Given the description of an element on the screen output the (x, y) to click on. 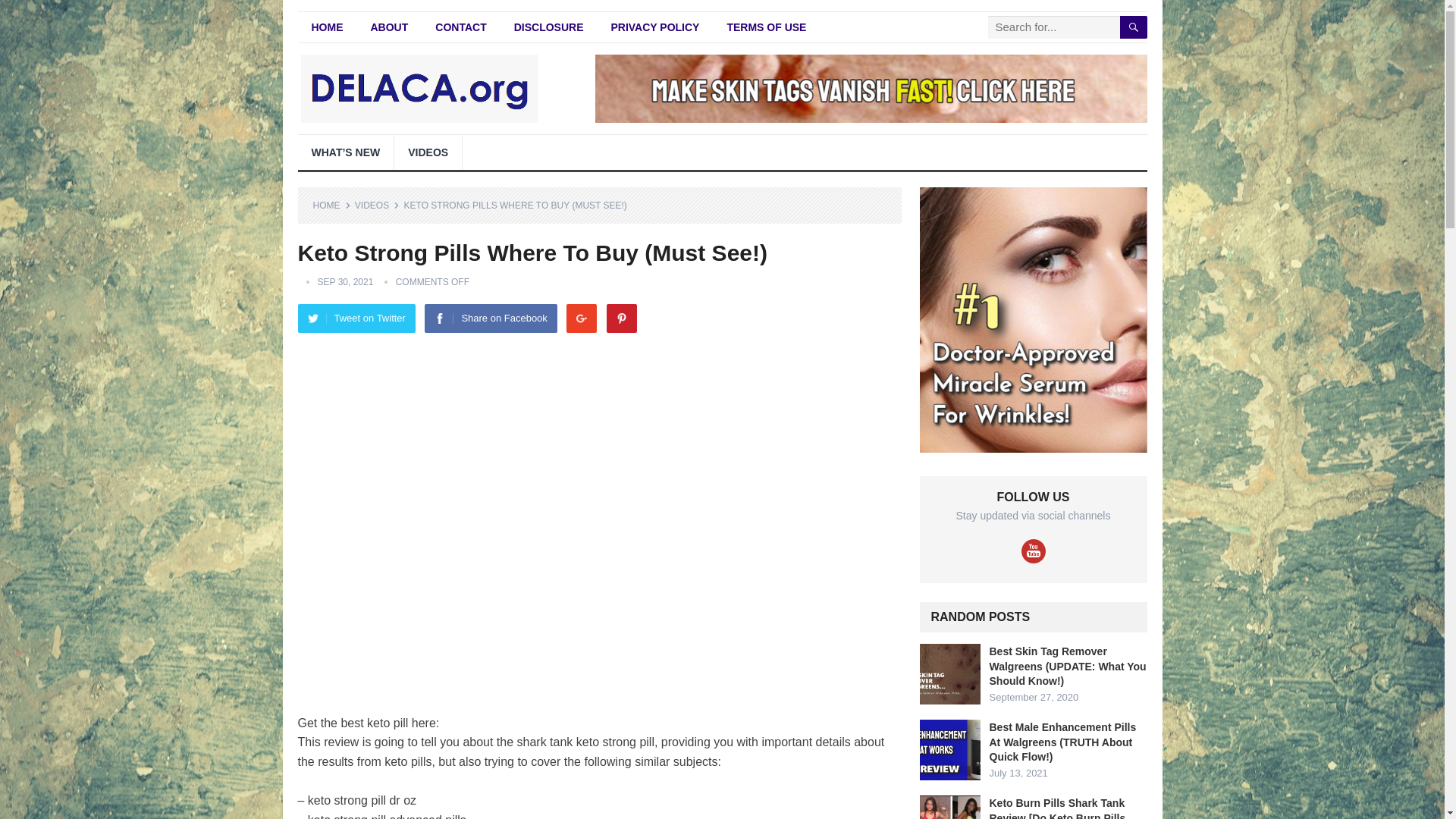
VIDEOS (376, 204)
HOME (331, 204)
View all posts in Videos (376, 204)
HOME (326, 27)
CONTACT (460, 27)
Share on Facebook (490, 317)
TERMS OF USE (766, 27)
VIDEOS (427, 152)
Pinterest (622, 317)
DISCLOSURE (548, 27)
